Given the description of an element on the screen output the (x, y) to click on. 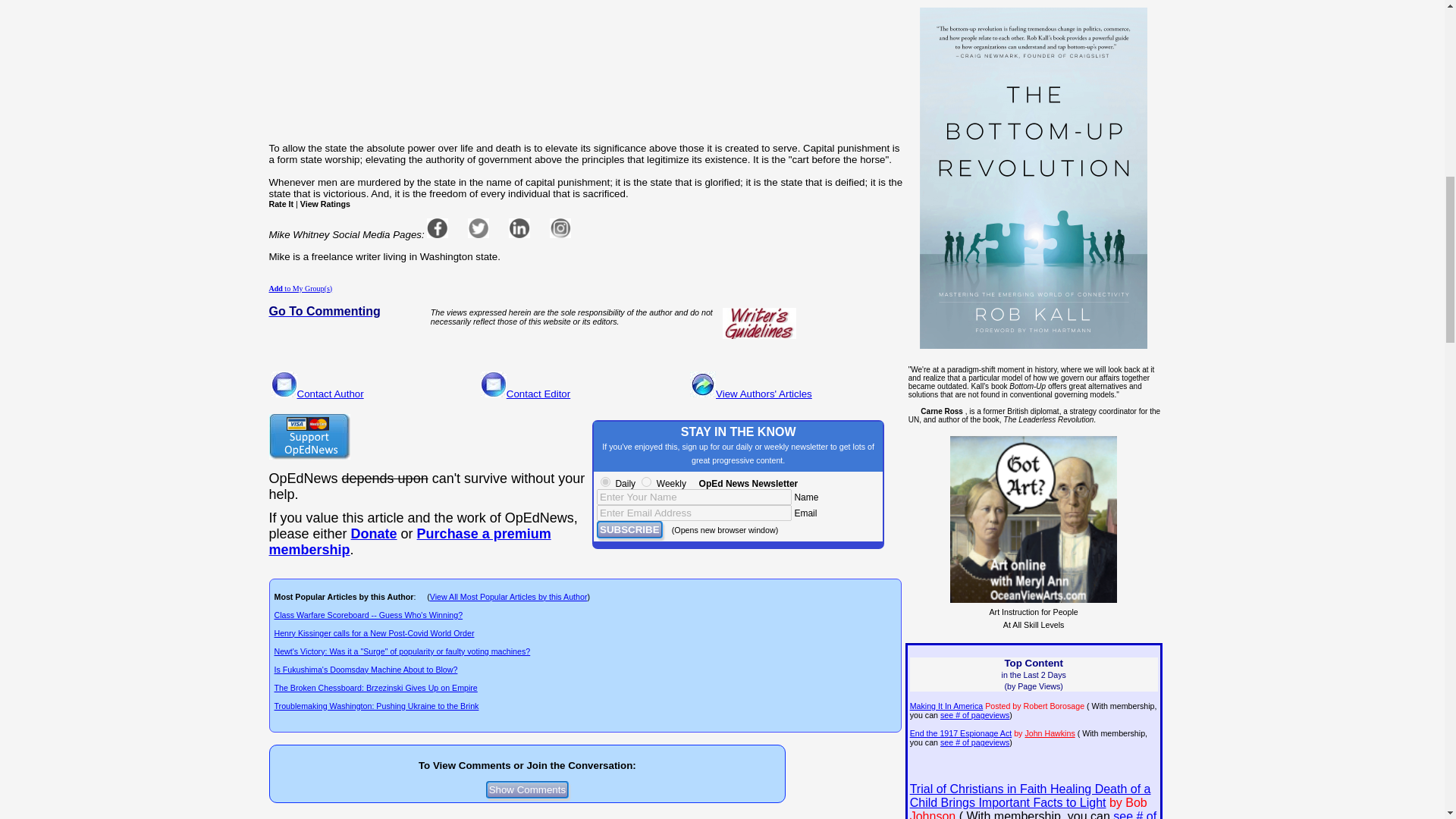
Advertisement (586, 59)
Twitter page url on login Profile not filled in (478, 228)
Linkedin page url on login Profile not filled in (518, 228)
Enter Email Address (694, 512)
Enter Your Name (694, 496)
Weekly (646, 481)
SUBSCRIBE (629, 529)
View Authors' Articles (764, 393)
SUBSCRIBE (629, 529)
-- (408, 541)
-- (373, 533)
Contact Editor (538, 393)
Contact Author (330, 393)
Henry Kissinger calls for a New Post-Covid World Order (374, 633)
View All Most Popular Articles by this Author (508, 596)
